Given the description of an element on the screen output the (x, y) to click on. 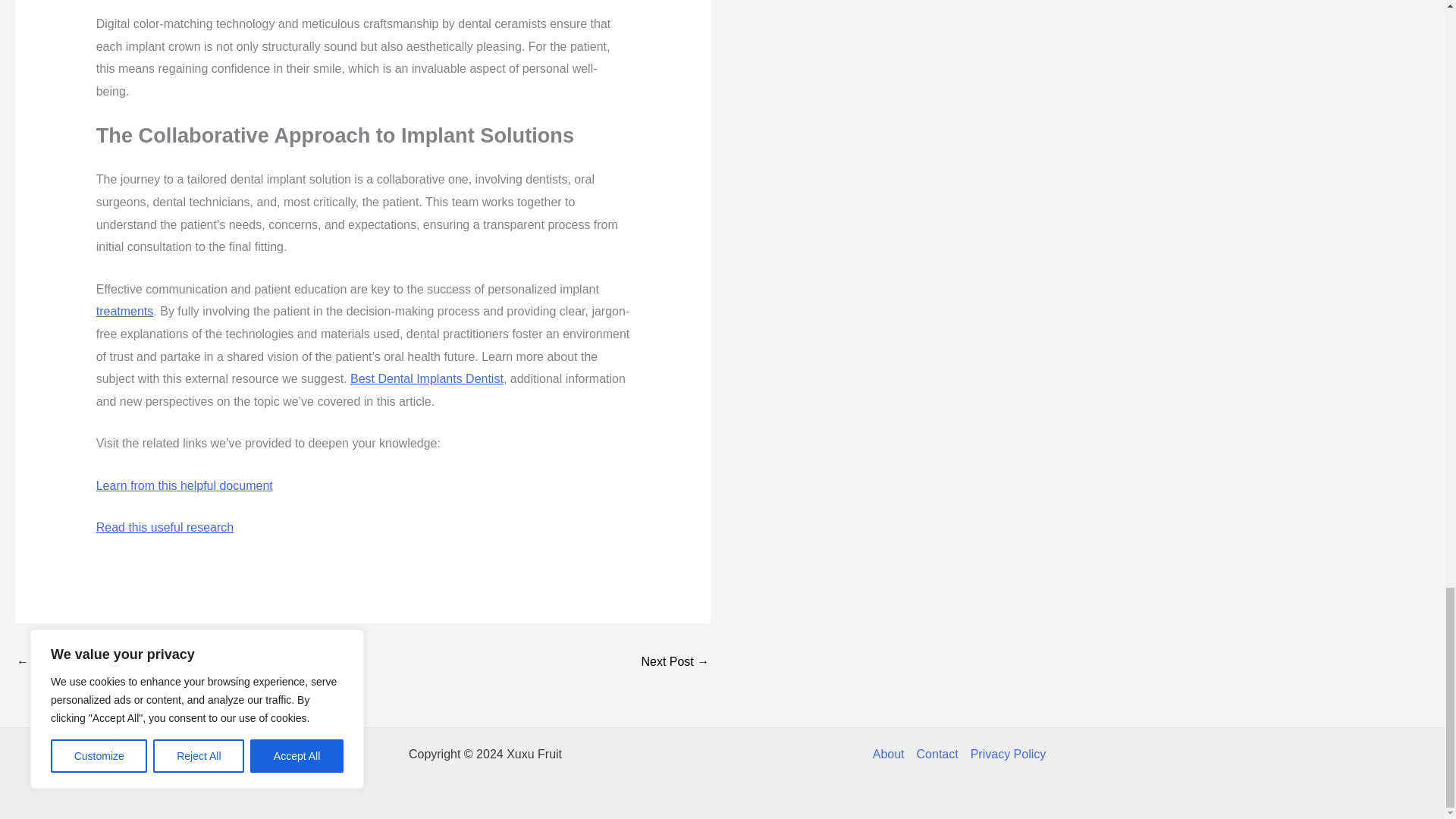
Navigating the Effects of Hard Water on Household Appliances (61, 663)
Learn from this helpful document (184, 485)
Garage Door Safety Tips for Homeowners (674, 663)
treatments (125, 310)
Read this useful research (164, 526)
Best Dental Implants Dentist (426, 378)
